Given the description of an element on the screen output the (x, y) to click on. 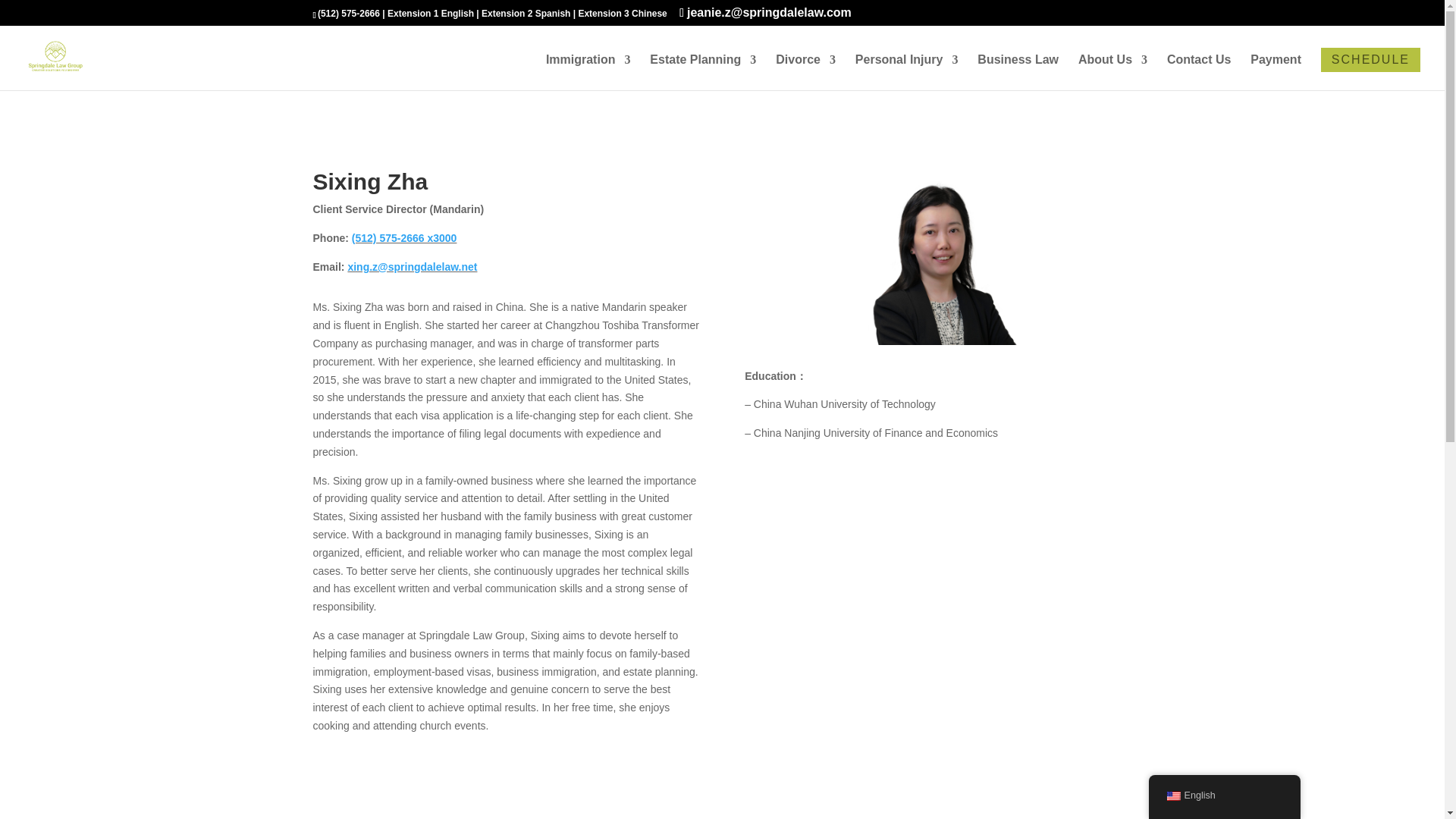
Immigration (588, 72)
Estate Planning (702, 72)
Payment (1275, 72)
Contact Us (1198, 72)
About Us (1112, 72)
Business Law (1017, 72)
Personal Injury (907, 72)
Divorce (805, 72)
English (1172, 795)
SCHEDULE (1370, 59)
